Given the description of an element on the screen output the (x, y) to click on. 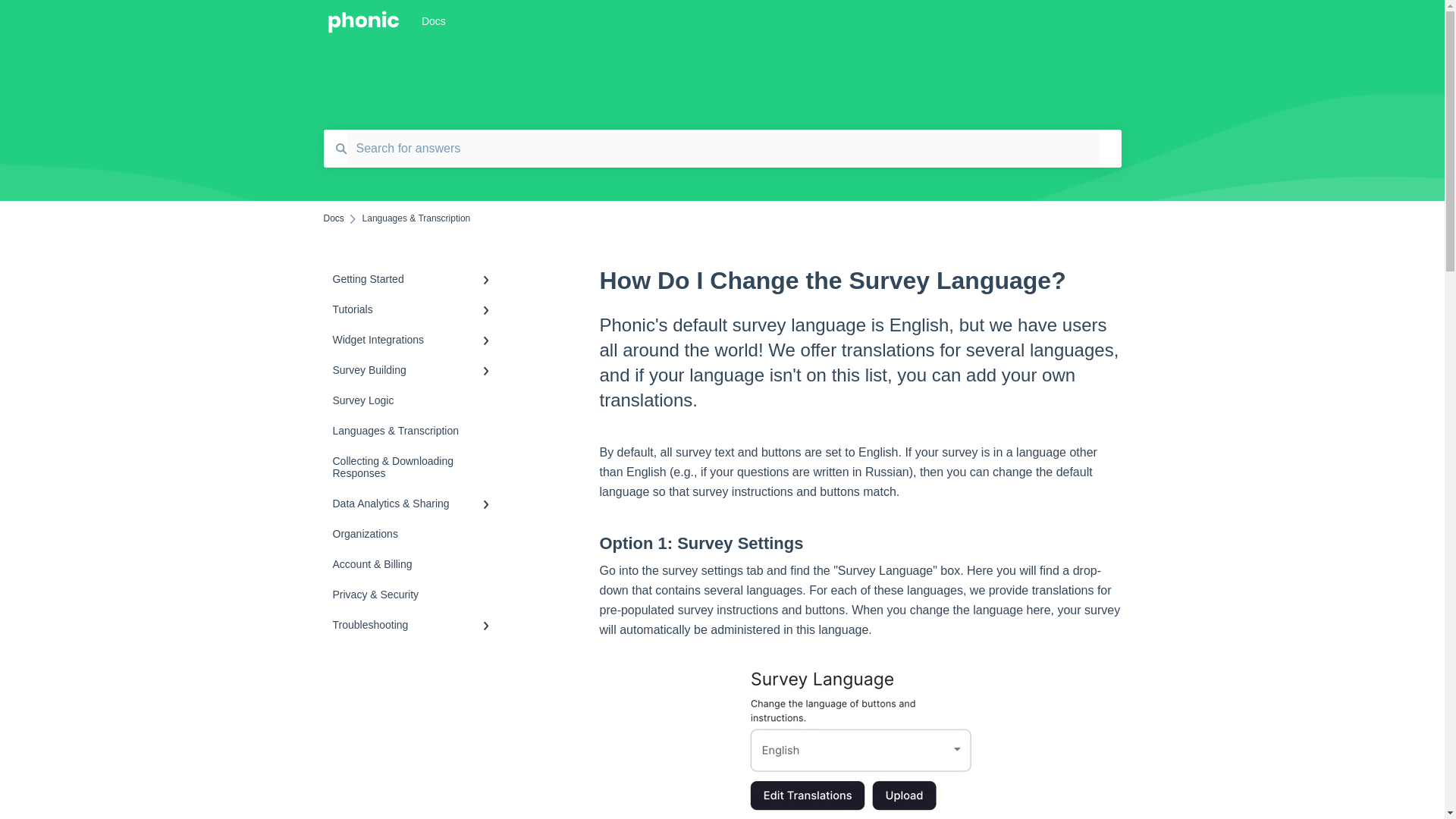
Chat Widget (37, 782)
Docs (754, 21)
Docs (333, 217)
Getting Started (414, 278)
